Given the description of an element on the screen output the (x, y) to click on. 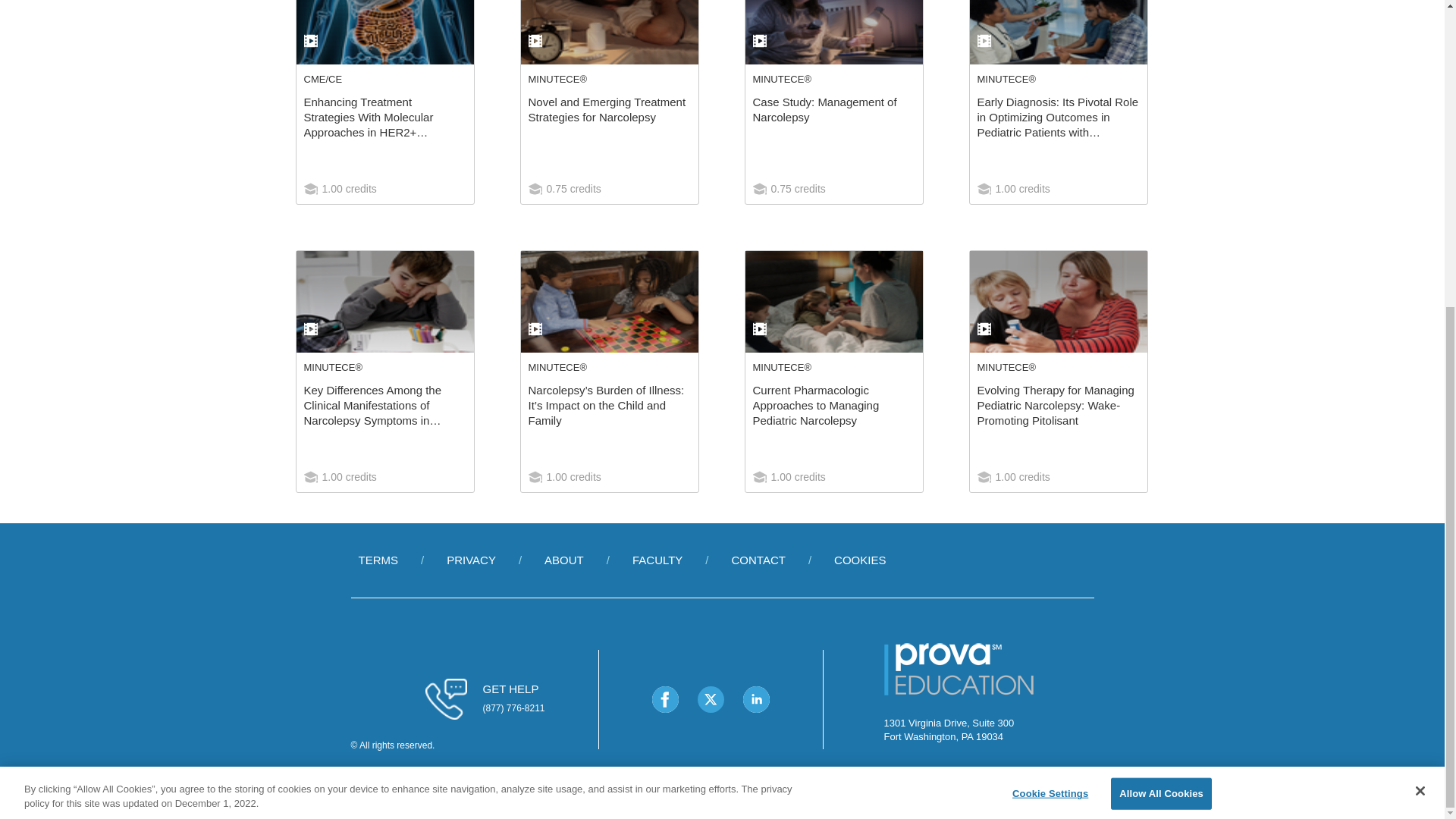
Twitter (710, 698)
Prova Education (958, 698)
Phone icon (446, 698)
LinkedIn (756, 698)
Prova Education (958, 669)
